Given the description of an element on the screen output the (x, y) to click on. 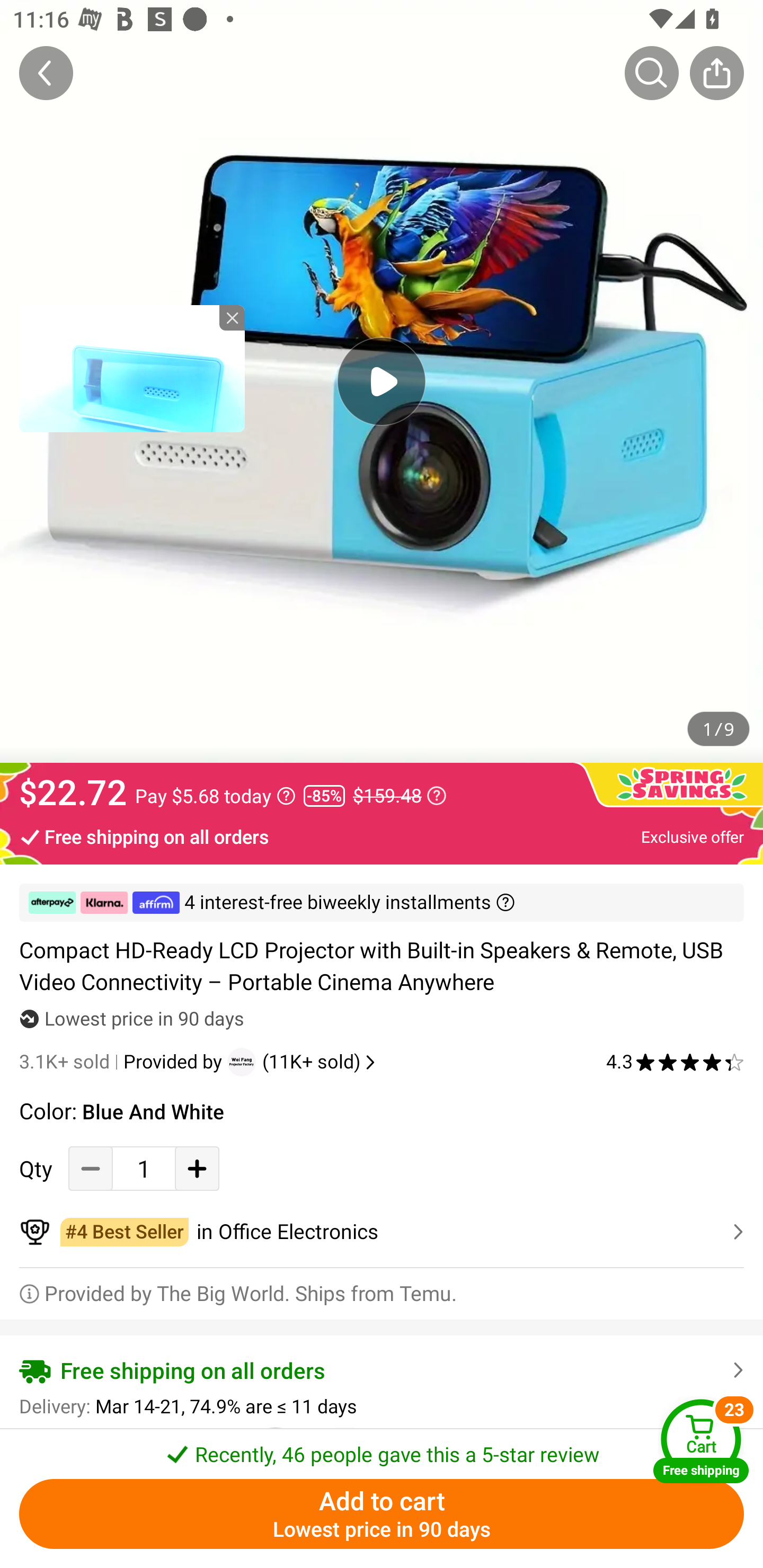
Back (46, 72)
Share (716, 72)
tronplayer_view (131, 368)
Pay $5.68 today   (215, 795)
Free shipping on all orders Exclusive offer (381, 836)
￼ ￼ ￼ 4 interest-free biweekly installments ￼ (381, 902)
3.1K+ sold Provided by  (123, 1061)
4.3 (674, 1061)
Decrease Quantity Button (90, 1168)
1 (143, 1168)
Add Quantity button (196, 1168)
￼￼in Office Electronics (381, 1231)
Cart Free shipping Cart (701, 1440)
￼￼Recently, 46 people gave this a 5-star review (381, 1448)
Add to cart Lowest price in 90 days (381, 1513)
